Given the description of an element on the screen output the (x, y) to click on. 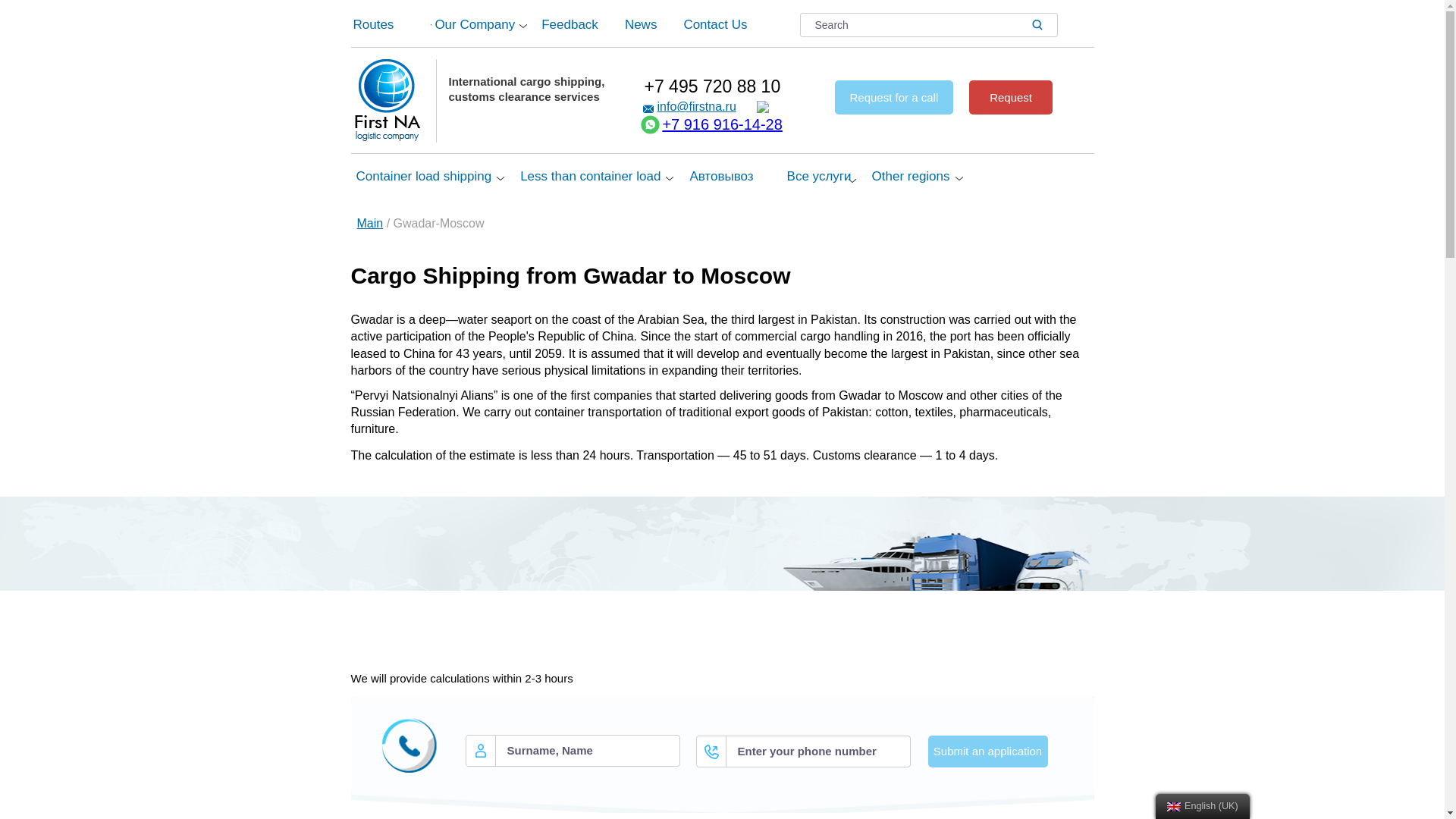
News (651, 21)
Feedback (579, 21)
Our Company (484, 21)
Submit an application (988, 751)
Routes (390, 21)
Enter your phone number (803, 751)
Surname, Name (572, 750)
Contact Us (740, 21)
Request for a call (893, 97)
